Given the description of an element on the screen output the (x, y) to click on. 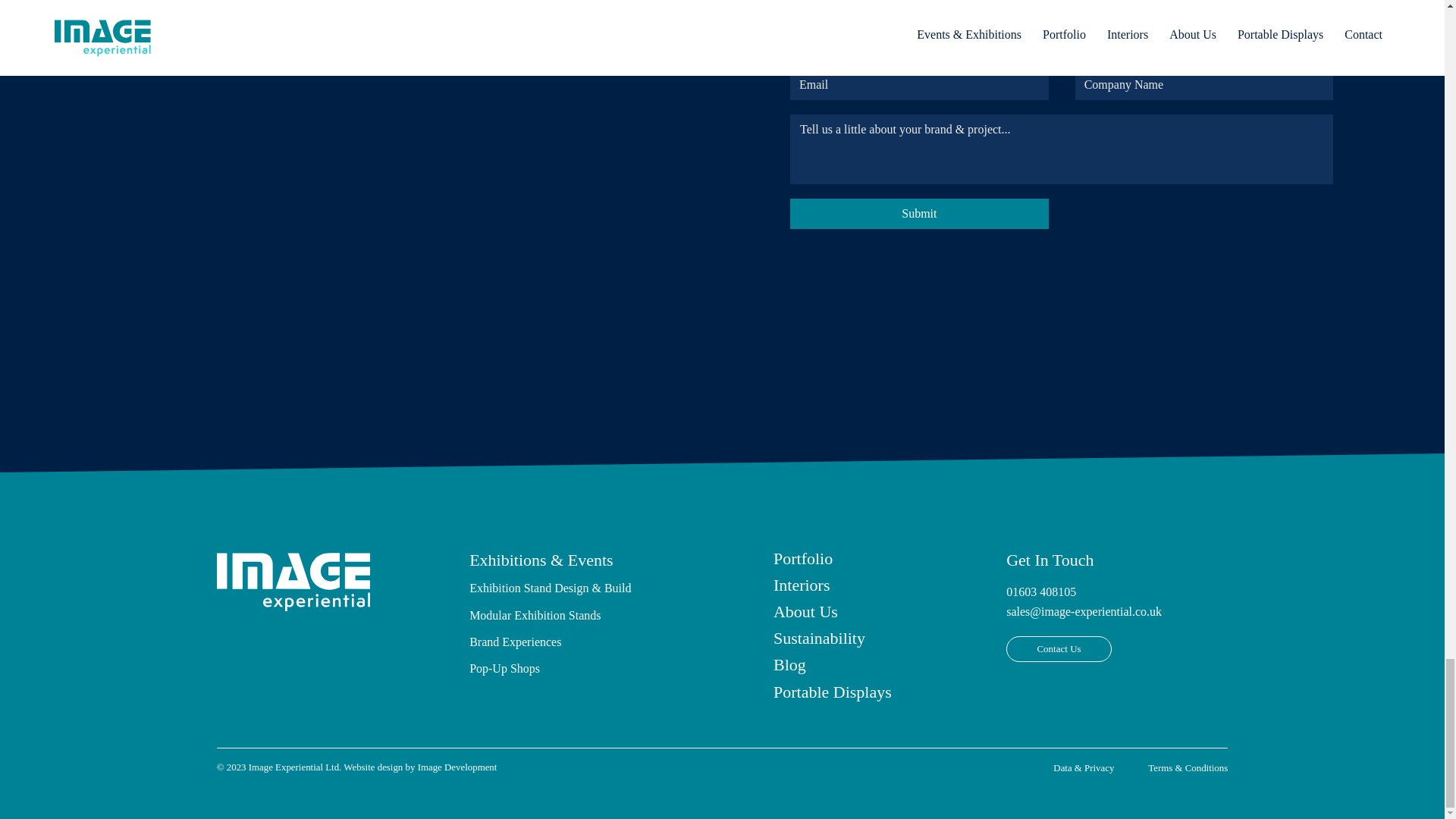
Pop-Up Shops (504, 667)
Image Development (457, 767)
Brand Experiences (514, 641)
Modular Exhibition Stands (533, 615)
Submit (919, 214)
